Given the description of an element on the screen output the (x, y) to click on. 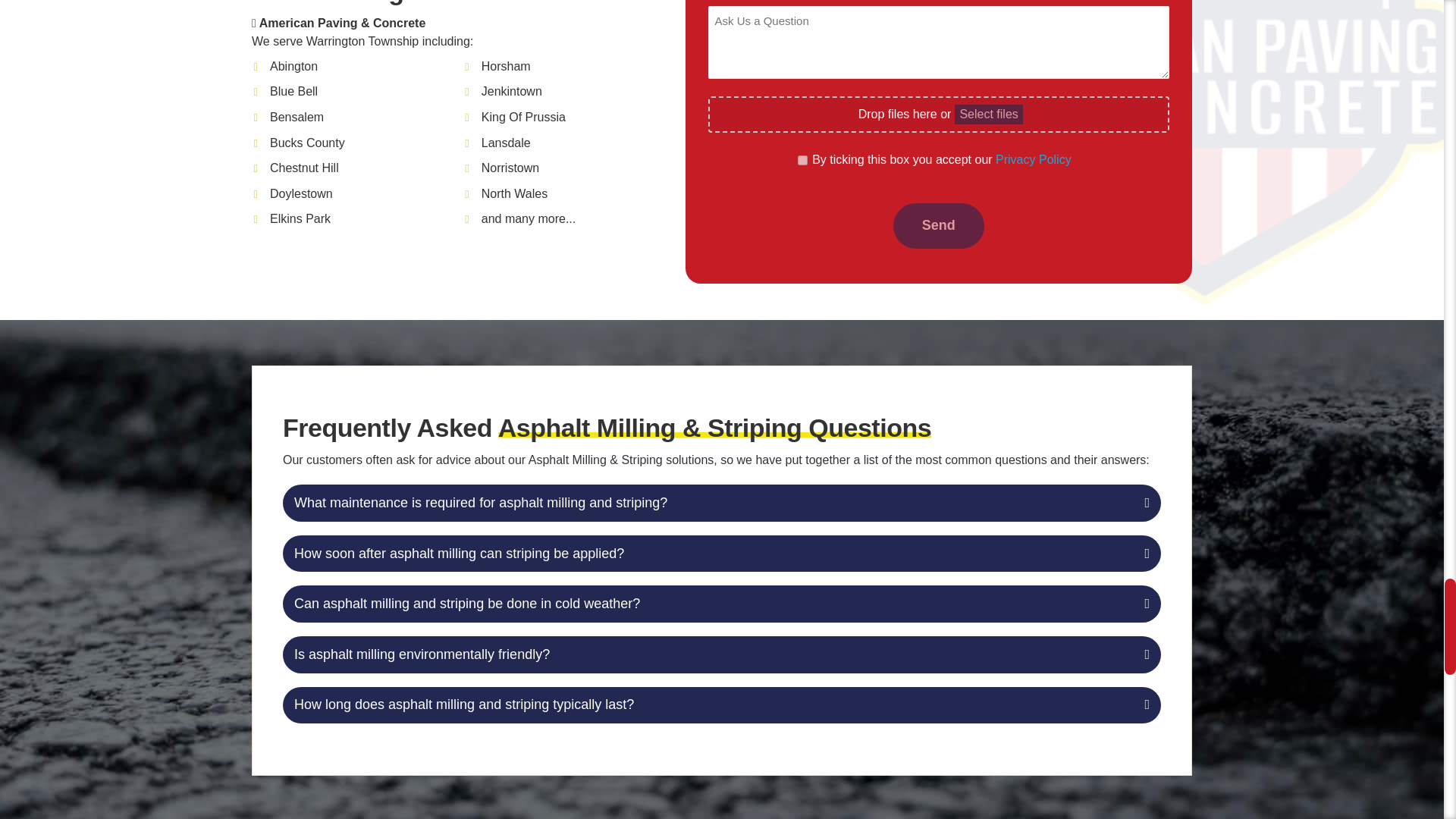
1 (802, 160)
Send (938, 225)
